Given the description of an element on the screen output the (x, y) to click on. 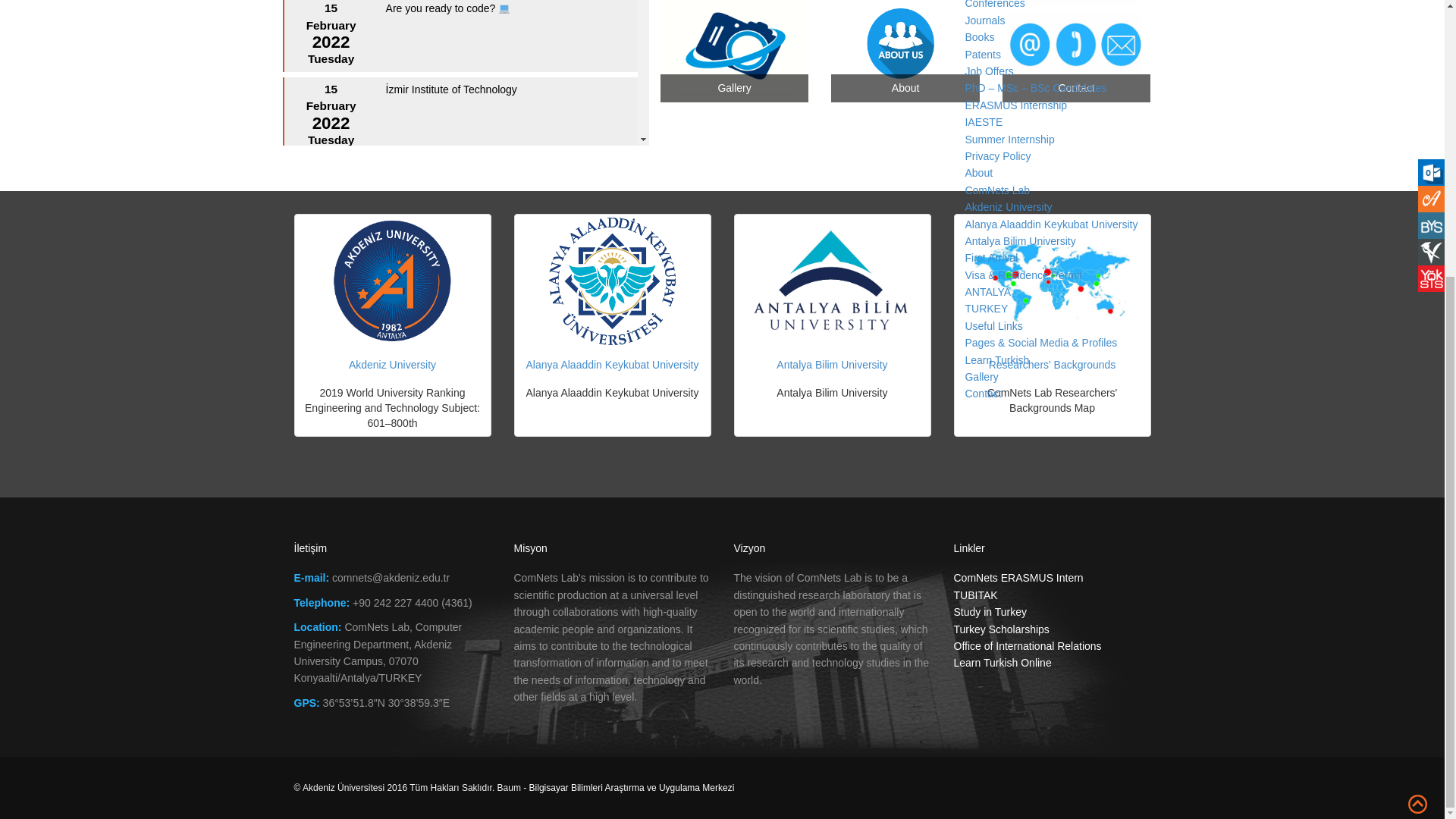
Patents (981, 54)
About (977, 173)
Akdeniz University (1007, 206)
ComNets Lab (996, 190)
Team (976, 21)
Conferences (994, 3)
Antalya Bilim University (1019, 241)
IAESTE (983, 121)
Privacy Policy (996, 155)
Books (978, 37)
ERASMUS Internship (1015, 105)
Home (977, 184)
Job Offers (988, 70)
Alanya Alaaddin Keykubat University (1050, 224)
Summer Internship (1008, 139)
